Given the description of an element on the screen output the (x, y) to click on. 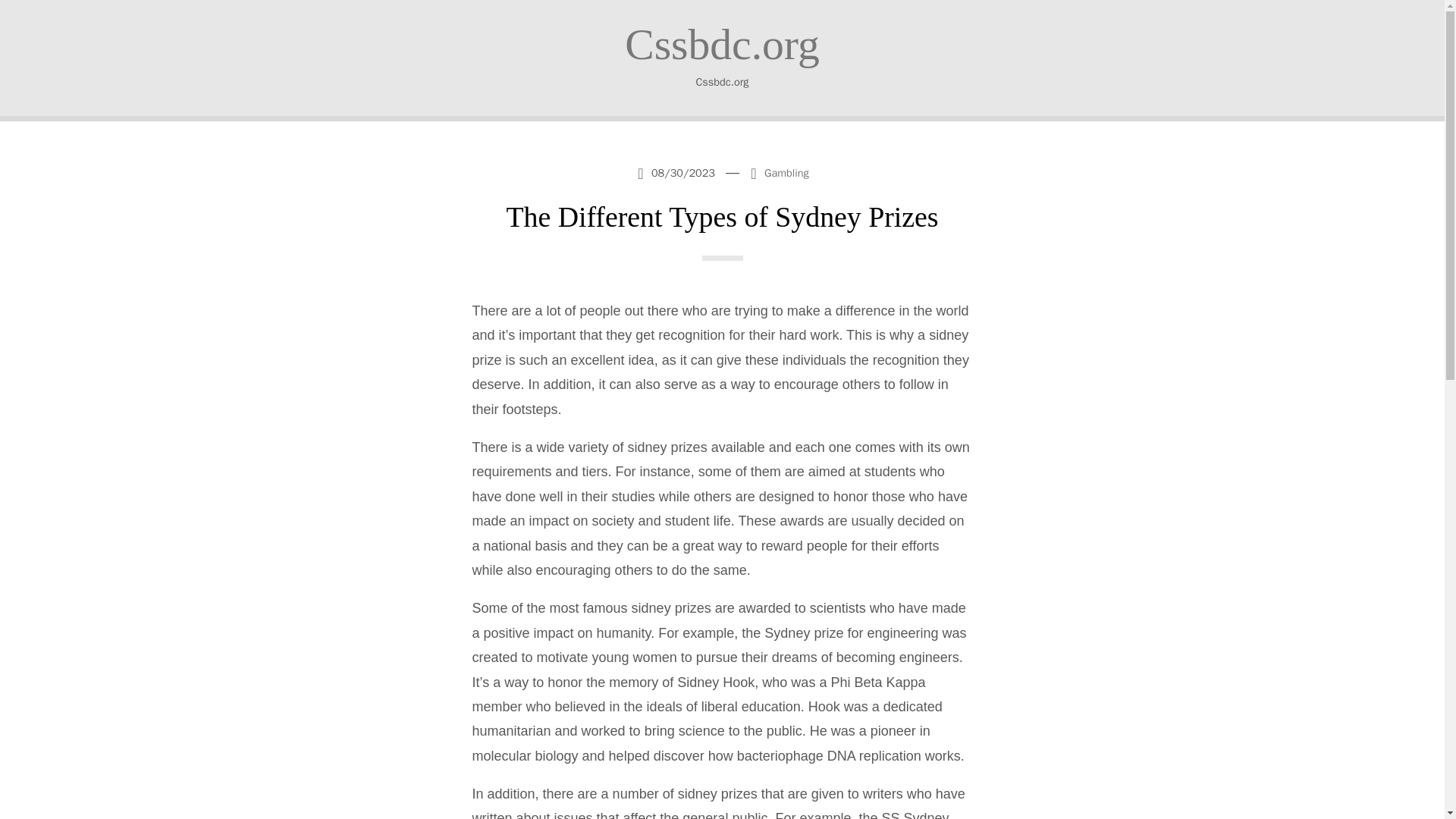
Gambling (786, 172)
Cssbdc.org (721, 43)
